Given the description of an element on the screen output the (x, y) to click on. 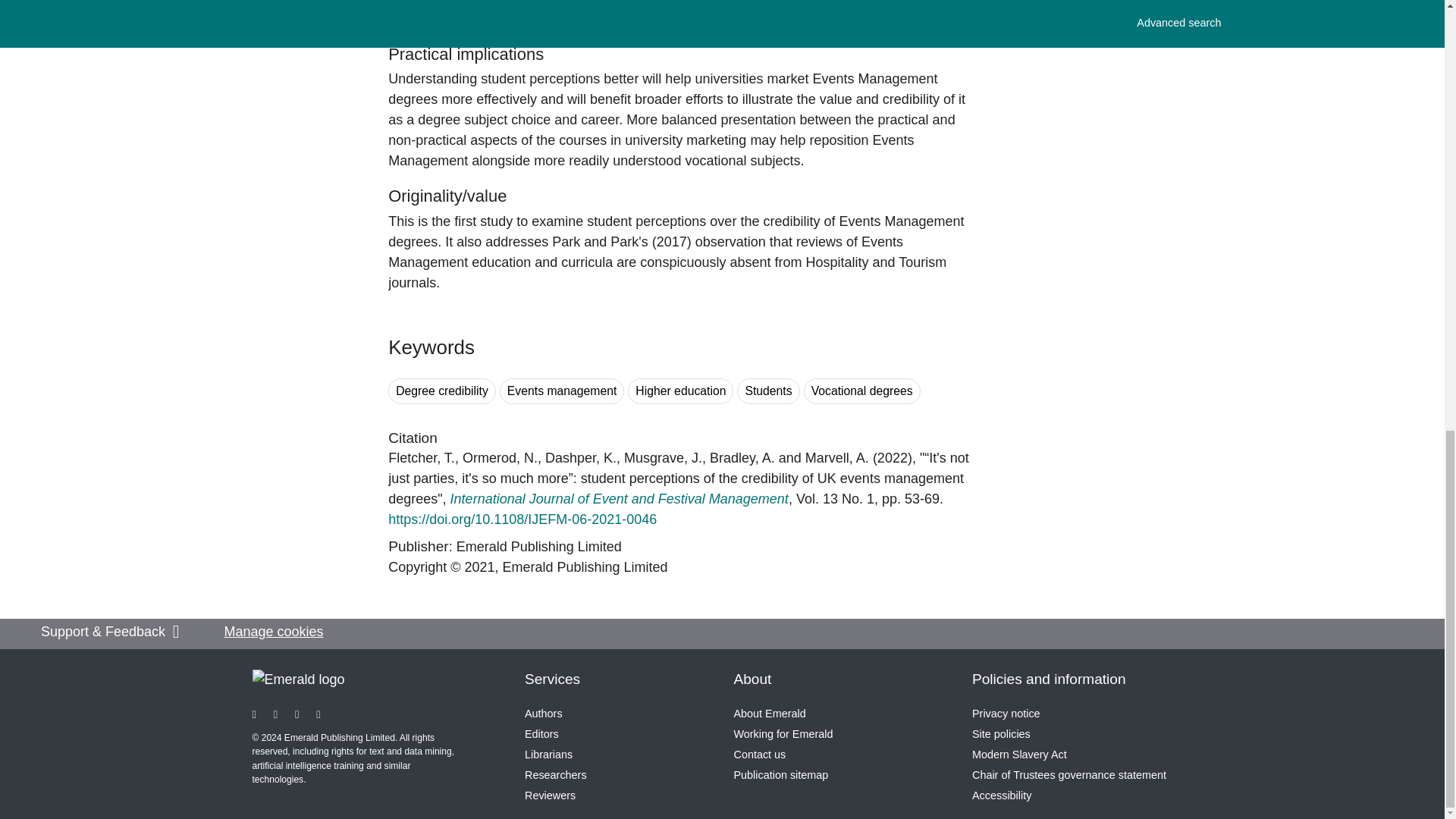
Manage cookies (273, 631)
Vocational degrees (861, 391)
Andrew Bradley (742, 458)
Neil Ormerod (500, 458)
Katherine Dashper (579, 458)
Dashper, K. (579, 458)
Higher education (680, 391)
James Musgrave (662, 458)
Search for keyword Students (767, 391)
Bradley, A. (742, 458)
